Given the description of an element on the screen output the (x, y) to click on. 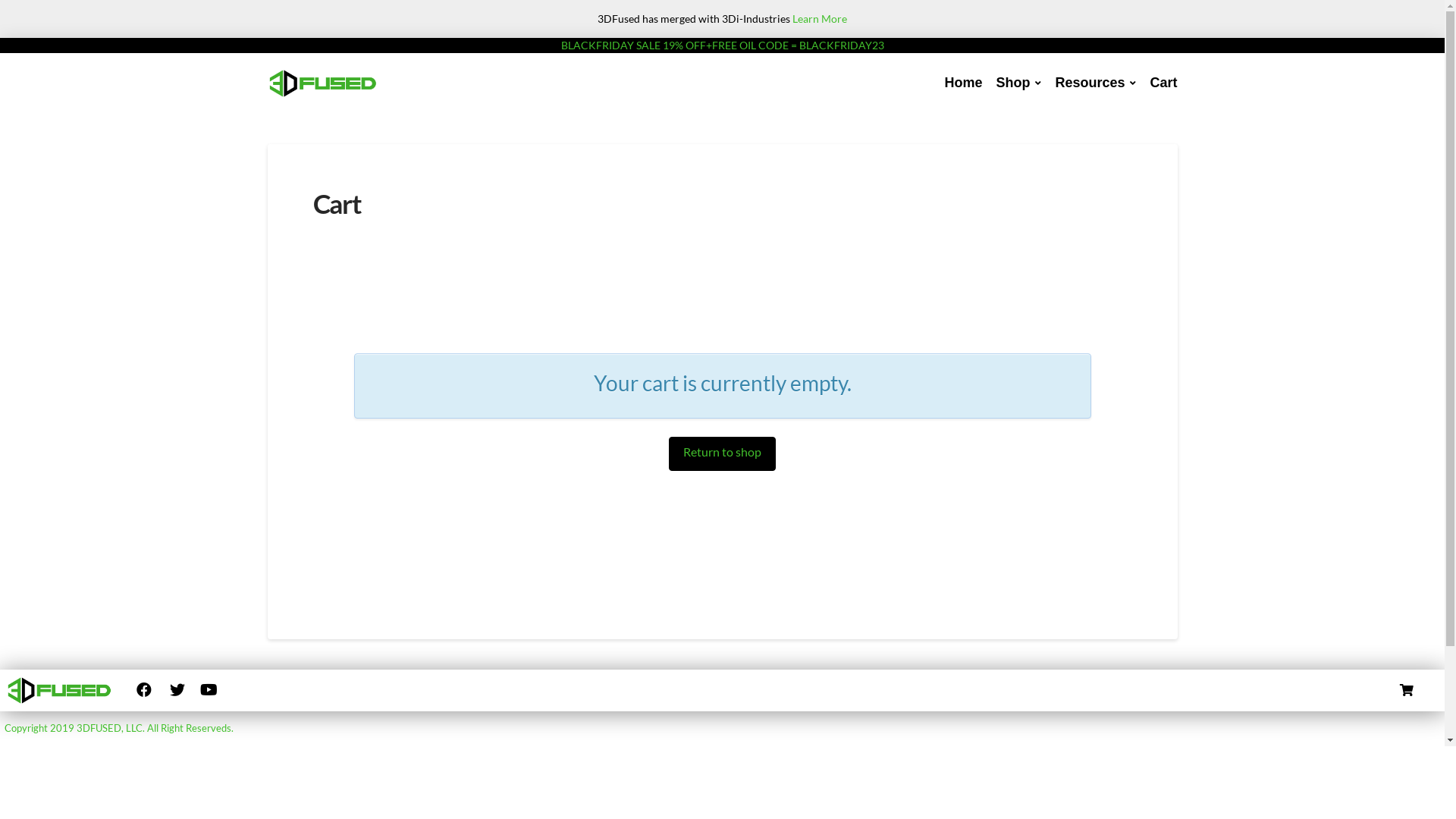
Shop Element type: text (1018, 83)
Cart Element type: text (1162, 83)
Resources Element type: text (1095, 83)
Learn More Element type: text (819, 18)
Home Element type: text (962, 83)
Return to shop Element type: text (721, 453)
